Given the description of an element on the screen output the (x, y) to click on. 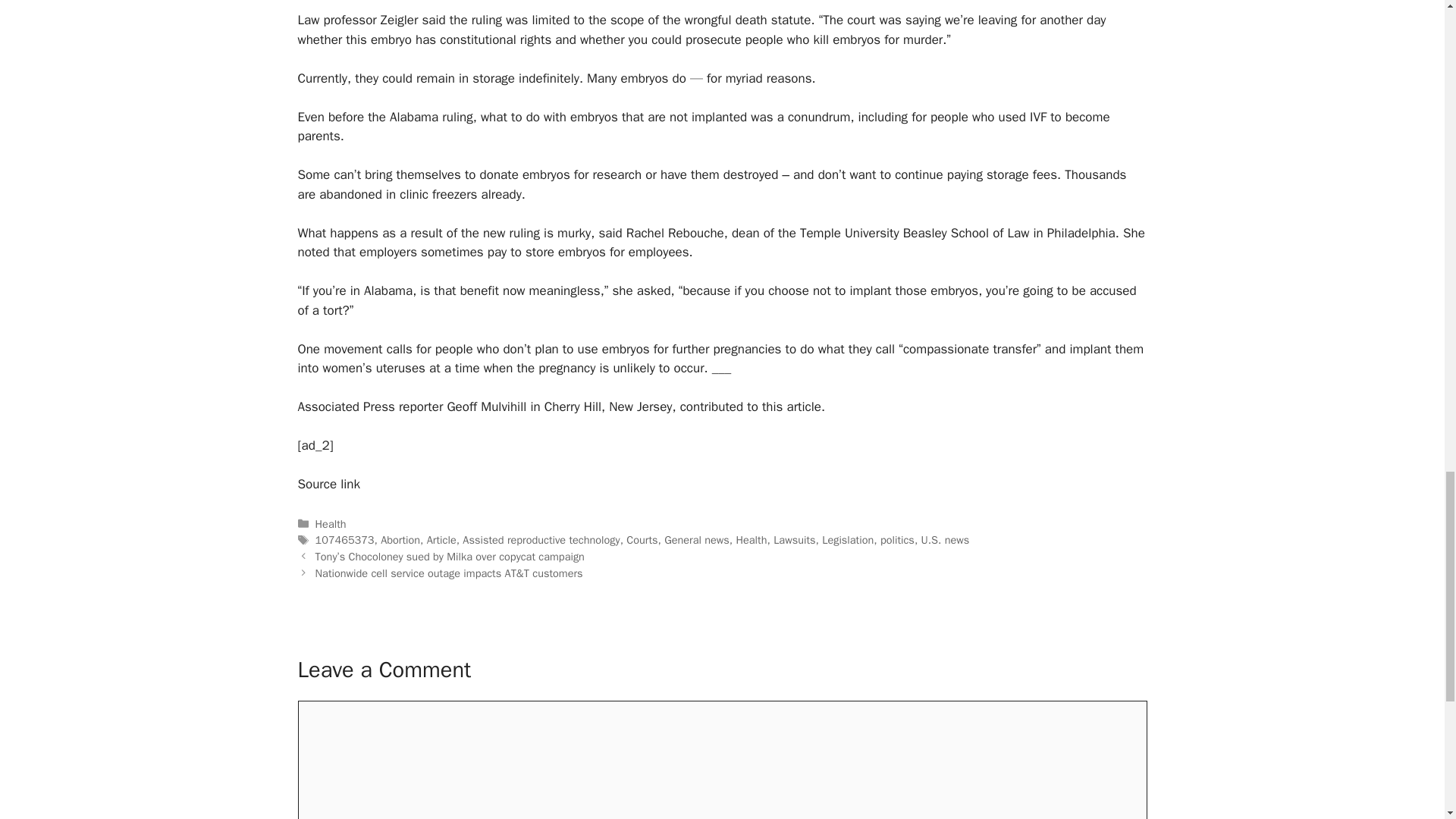
Health (330, 523)
General news (696, 540)
Article (441, 540)
politics (897, 540)
Legislation (847, 540)
Assisted reproductive technology (541, 540)
107465373 (344, 540)
U.S. news (945, 540)
Lawsuits (794, 540)
Source link (328, 483)
Courts (642, 540)
Abortion (400, 540)
Health (751, 540)
